Given the description of an element on the screen output the (x, y) to click on. 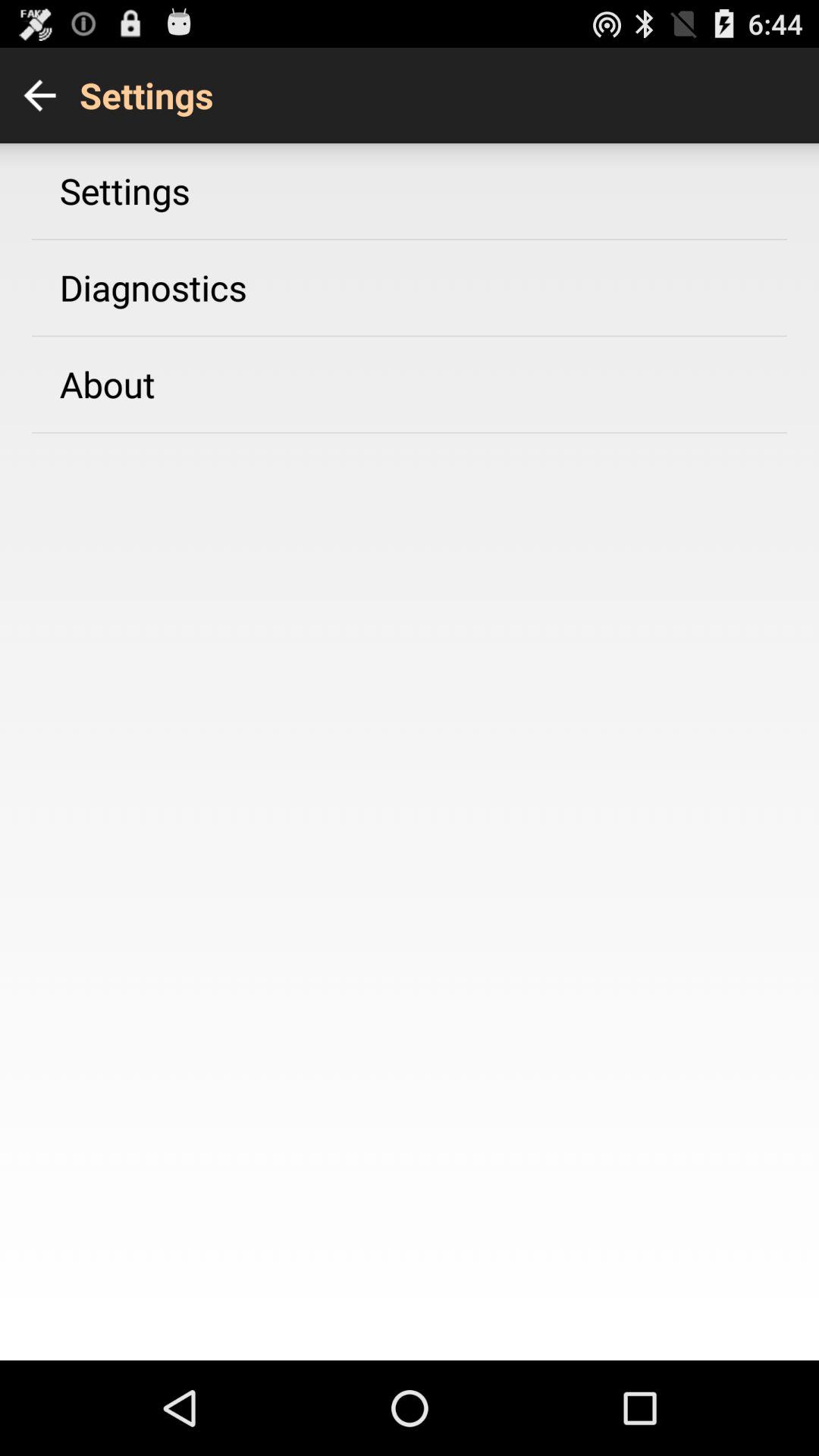
click the item below the diagnostics app (107, 384)
